Given the description of an element on the screen output the (x, y) to click on. 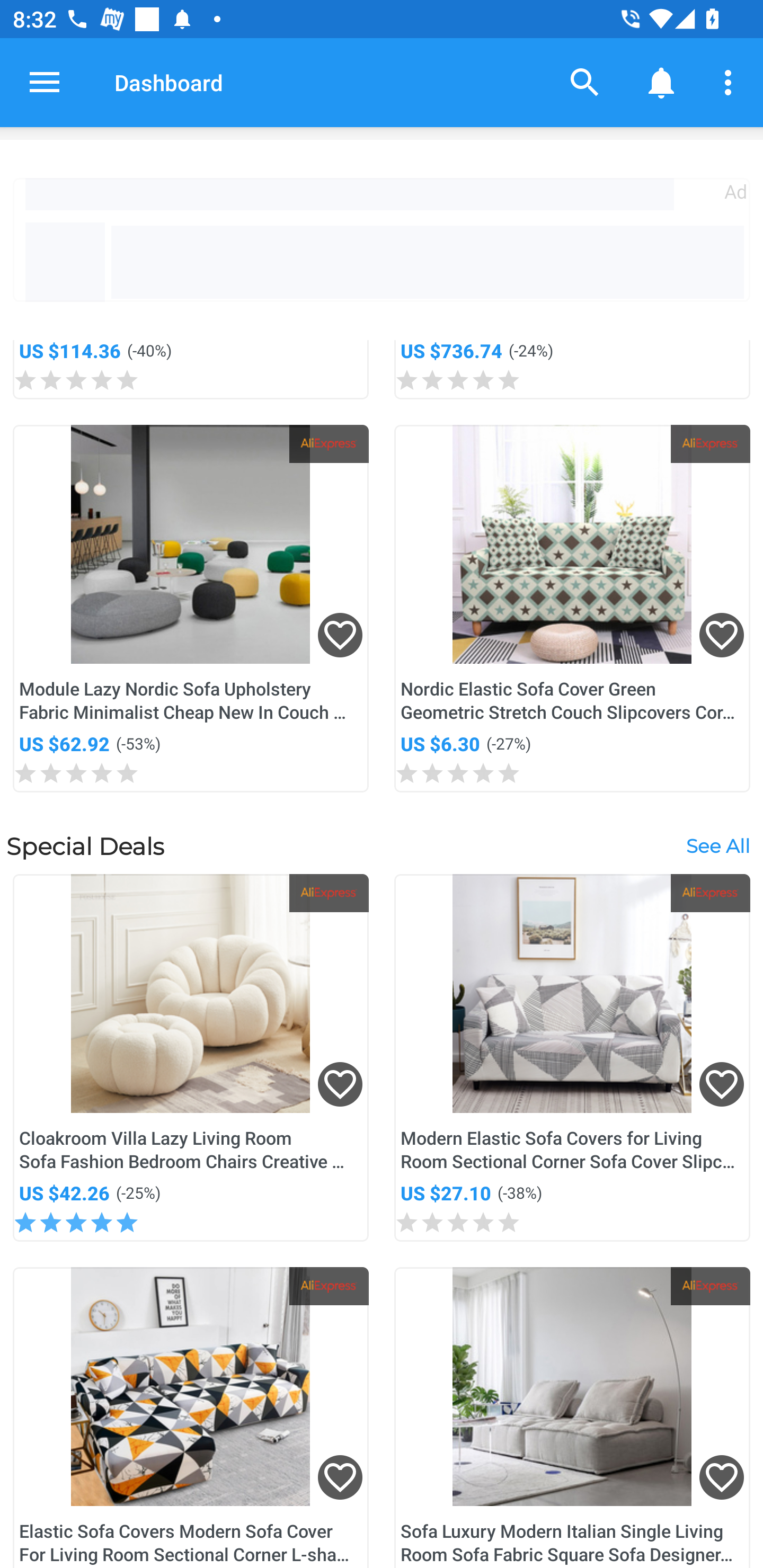
Open navigation drawer (44, 82)
Search (585, 81)
More options (731, 81)
US $114.36 (-40%) 0.0 (190, 369)
US $736.74 (-24%) 0.0 (572, 369)
See All (717, 844)
